Given the description of an element on the screen output the (x, y) to click on. 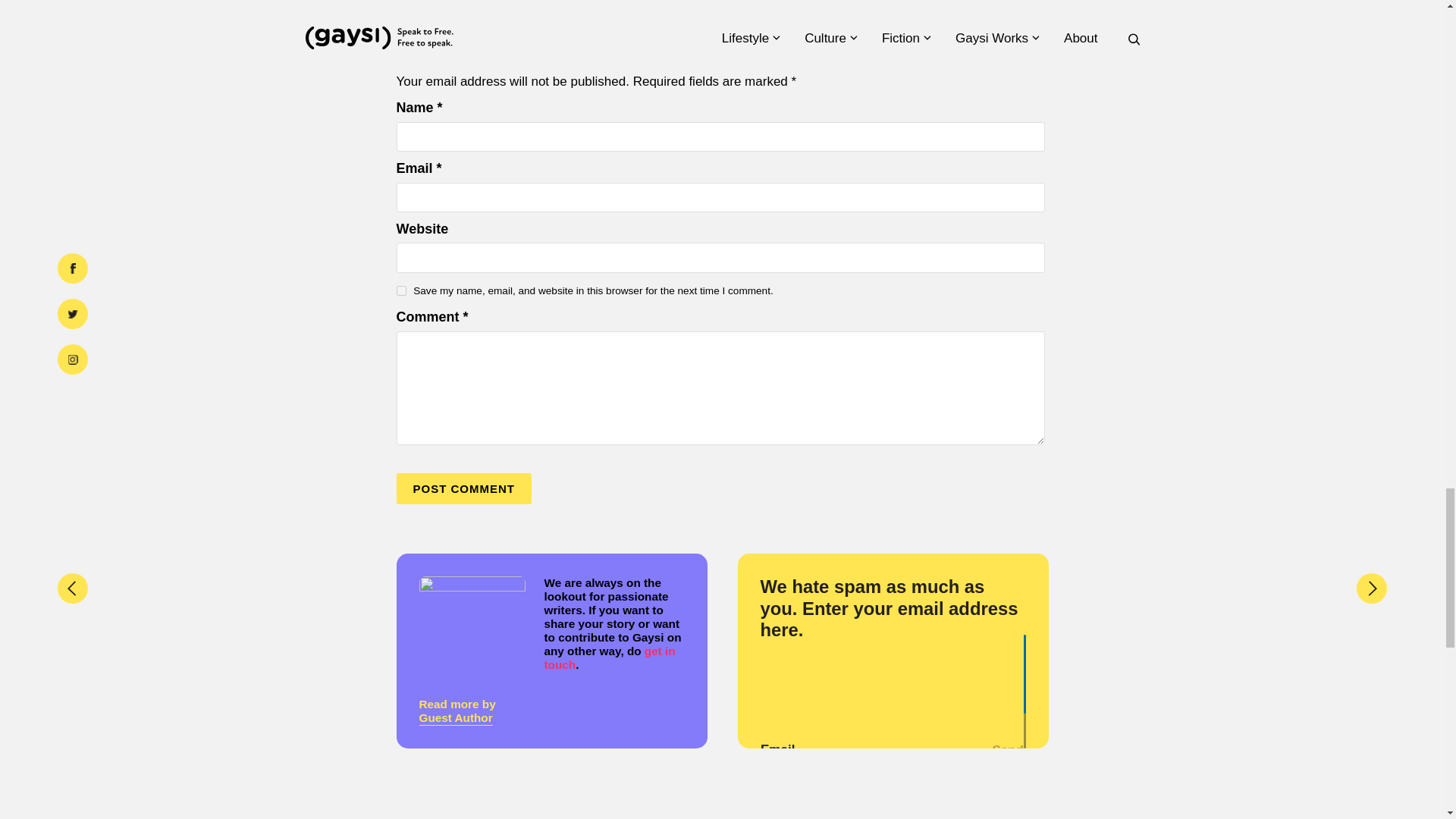
Get in touch (609, 657)
yes (401, 290)
Post Comment (463, 488)
